Given the description of an element on the screen output the (x, y) to click on. 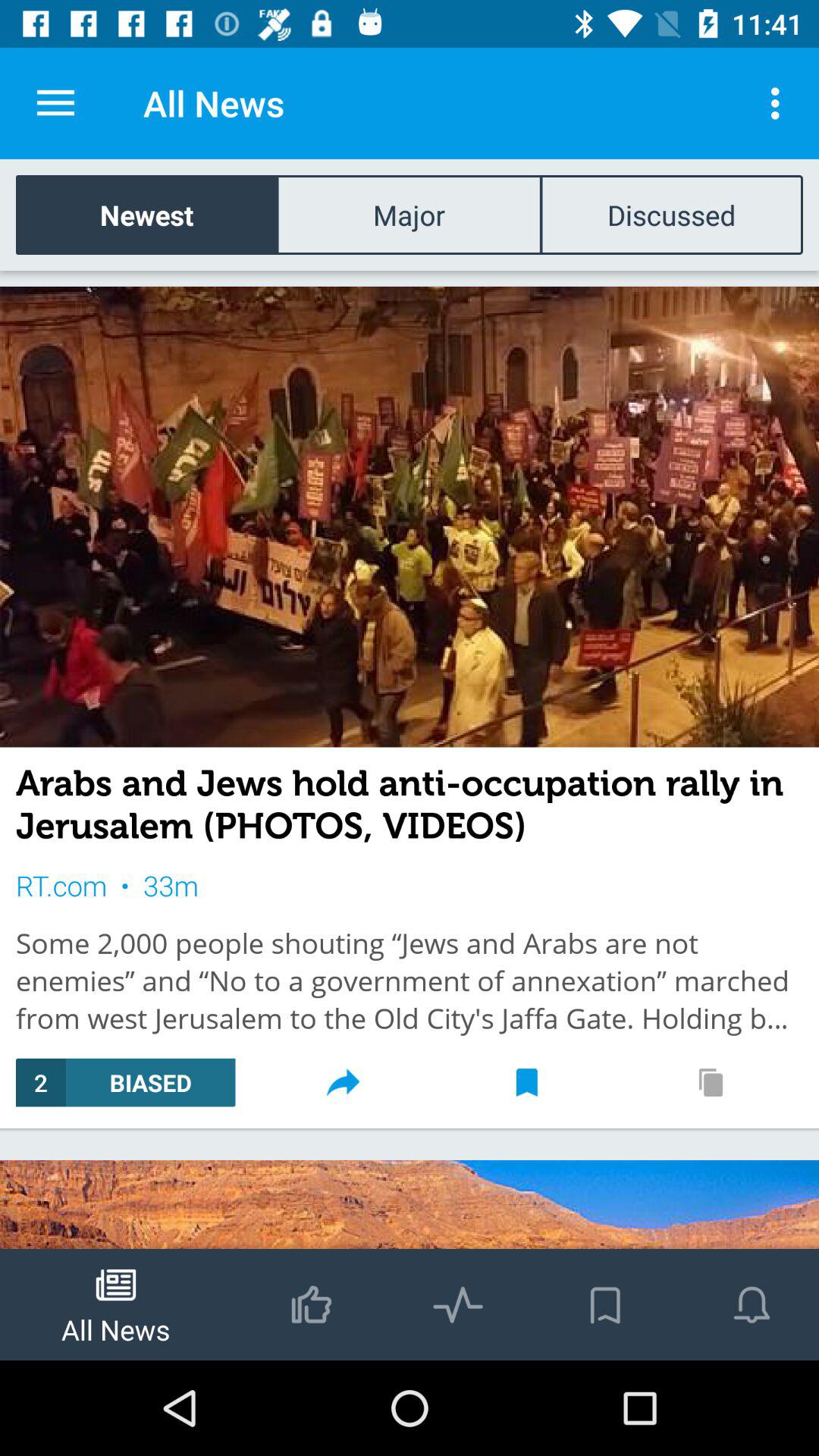
click icon next to all news icon (779, 103)
